Given the description of an element on the screen output the (x, y) to click on. 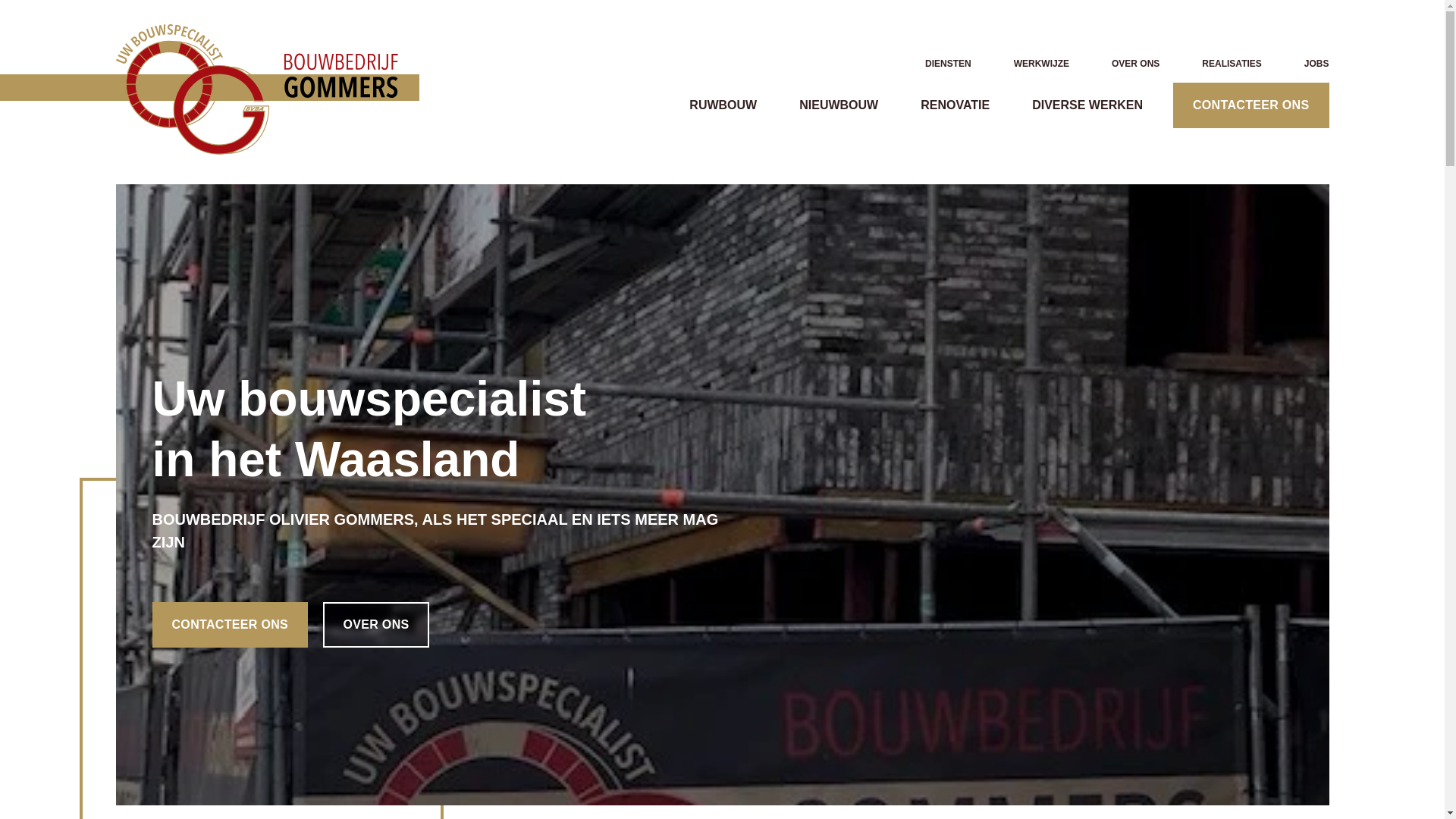
JOBS Element type: text (1310, 62)
CONTACTEER ONS Element type: text (229, 624)
CONTACTEER ONS Element type: text (1251, 104)
DIVERSE WERKEN Element type: text (1080, 104)
RUWBOUW Element type: text (716, 104)
WERKWIJZE Element type: text (1035, 62)
OVER ONS Element type: text (1129, 62)
OVER ONS Element type: text (375, 624)
REALISATIES Element type: text (1225, 62)
NIEUWBOUW Element type: text (832, 104)
RENOVATIE Element type: text (948, 104)
DIENSTEN Element type: text (942, 62)
